Given the description of an element on the screen output the (x, y) to click on. 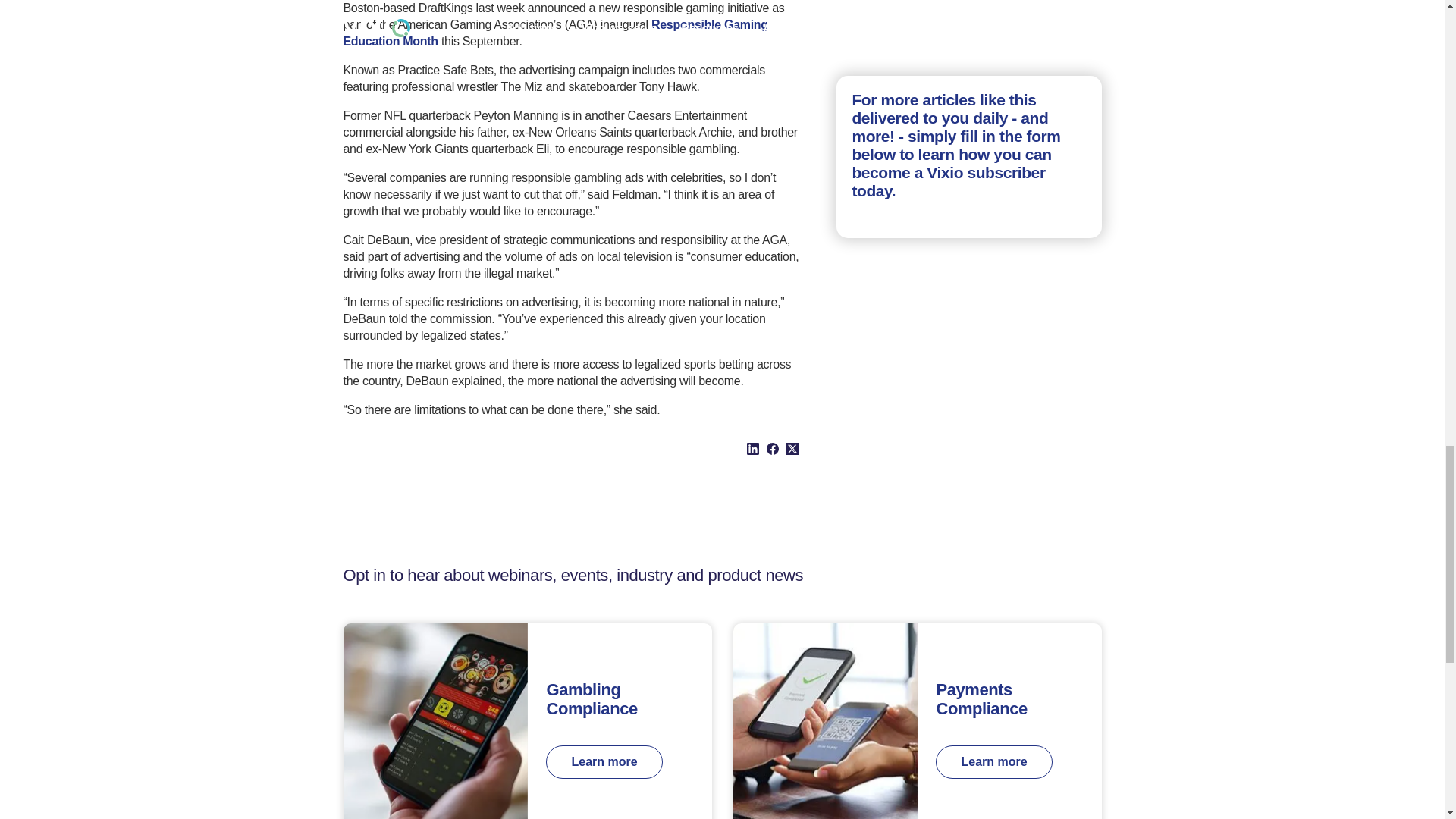
Responsible Gaming Education Month (554, 32)
